Given the description of an element on the screen output the (x, y) to click on. 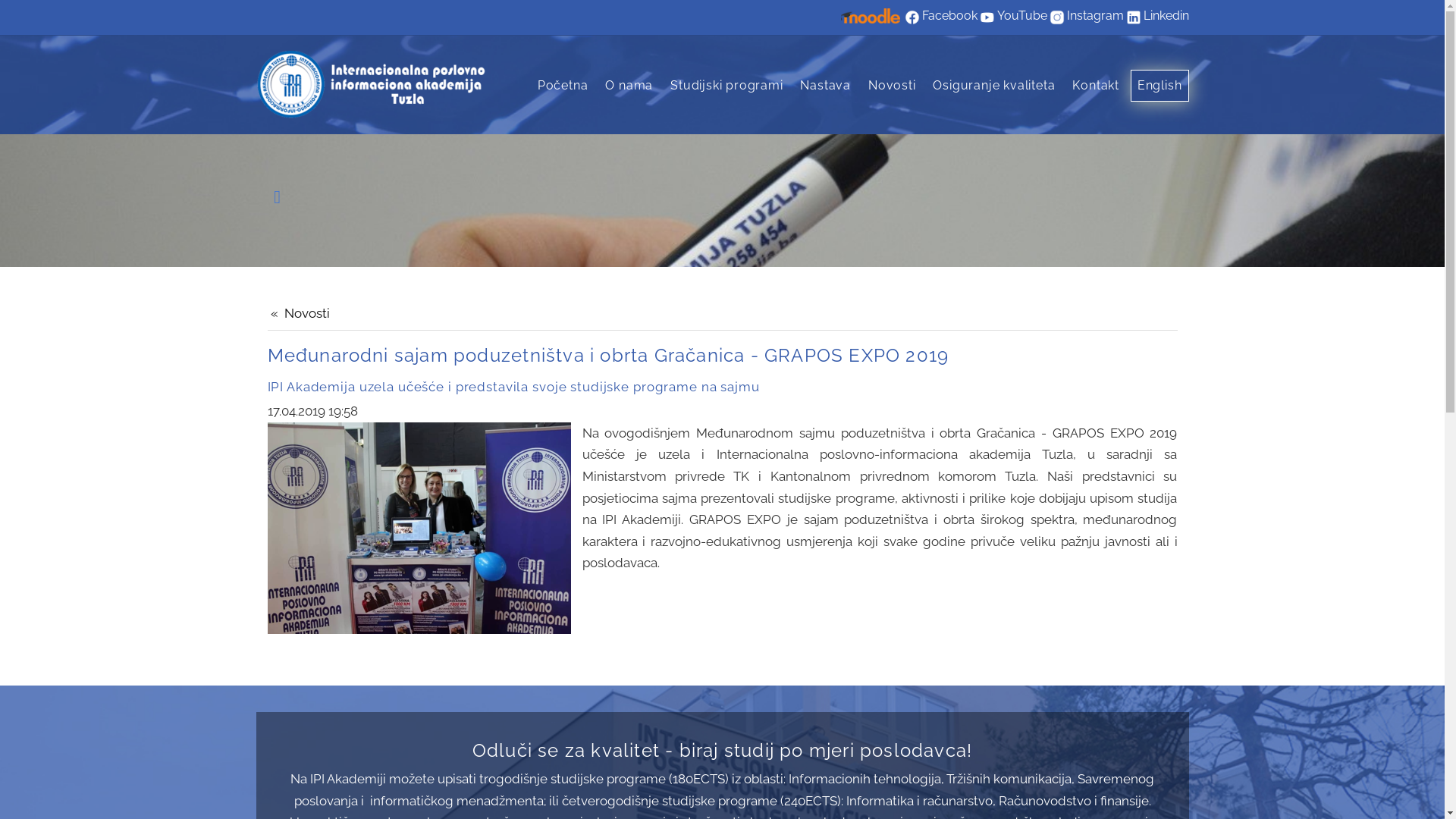
Nastava Element type: text (824, 85)
O nama Element type: text (628, 85)
Osiguranje kvaliteta Element type: text (993, 85)
Studijski programi Element type: text (726, 85)
Linkedin Element type: text (1166, 16)
English Element type: text (1159, 85)
Facebook Element type: text (949, 16)
Novosti Element type: text (299, 313)
YouTube Element type: text (1021, 16)
Instagram Element type: text (1094, 16)
Novosti Element type: text (892, 85)
Kontakt Element type: text (1095, 85)
